Given the description of an element on the screen output the (x, y) to click on. 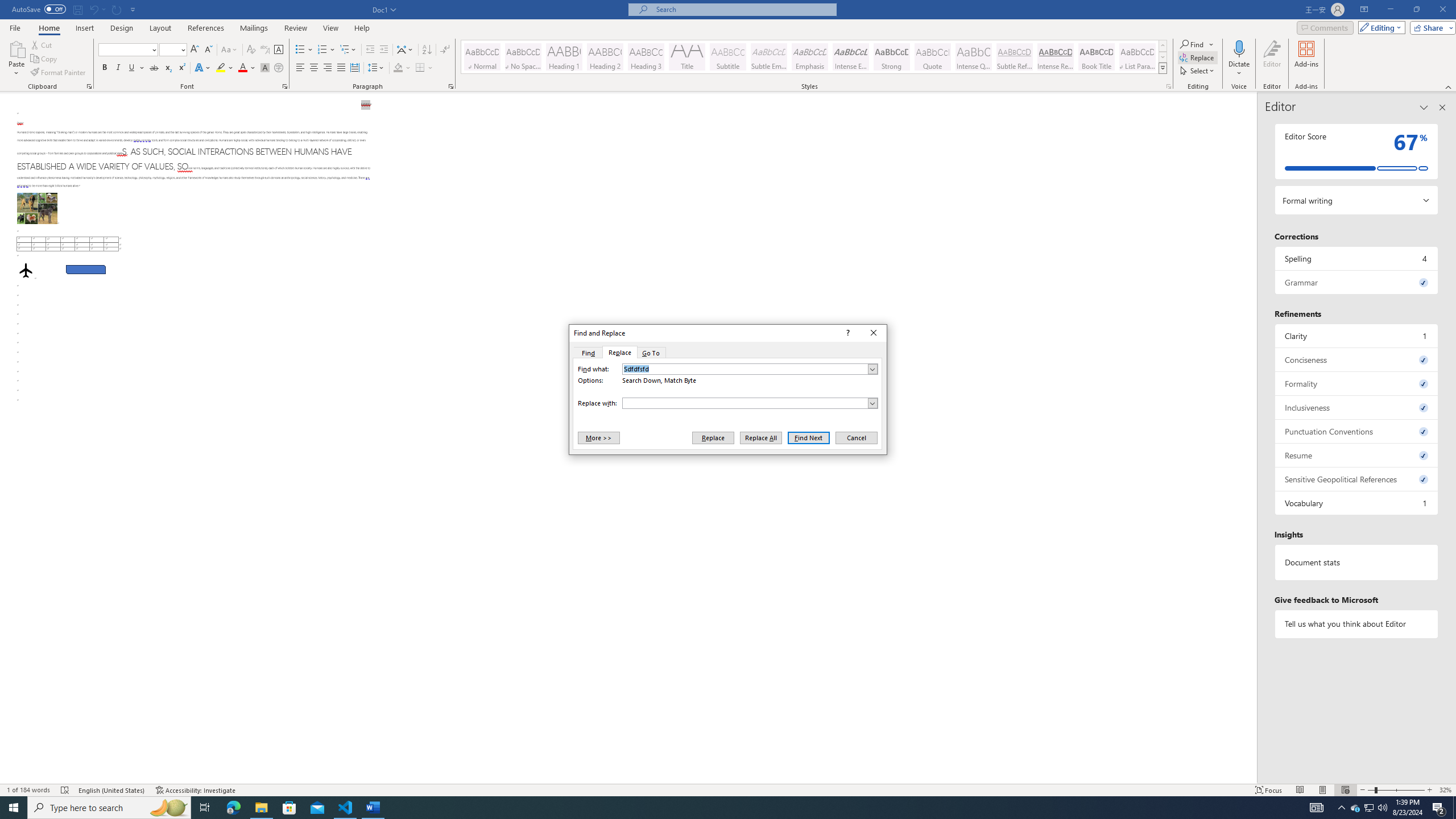
Editor Score 67% (1356, 151)
Cancel (855, 437)
